Given the description of an element on the screen output the (x, y) to click on. 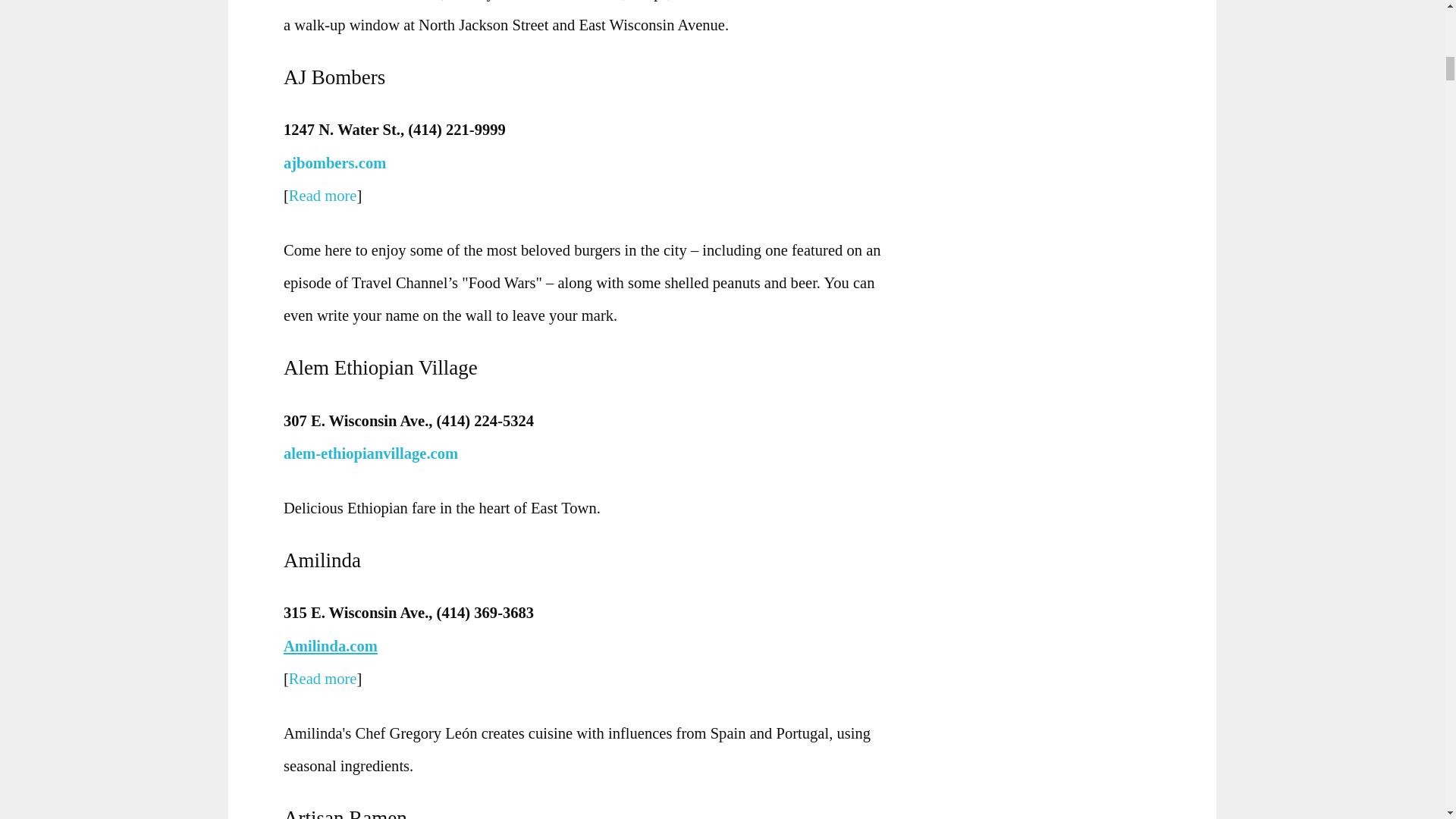
ajbombers.com (334, 162)
Read more (322, 678)
Read more (322, 195)
Amilinda.com (334, 646)
alem-ethiopianvillage.com (374, 453)
